Given the description of an element on the screen output the (x, y) to click on. 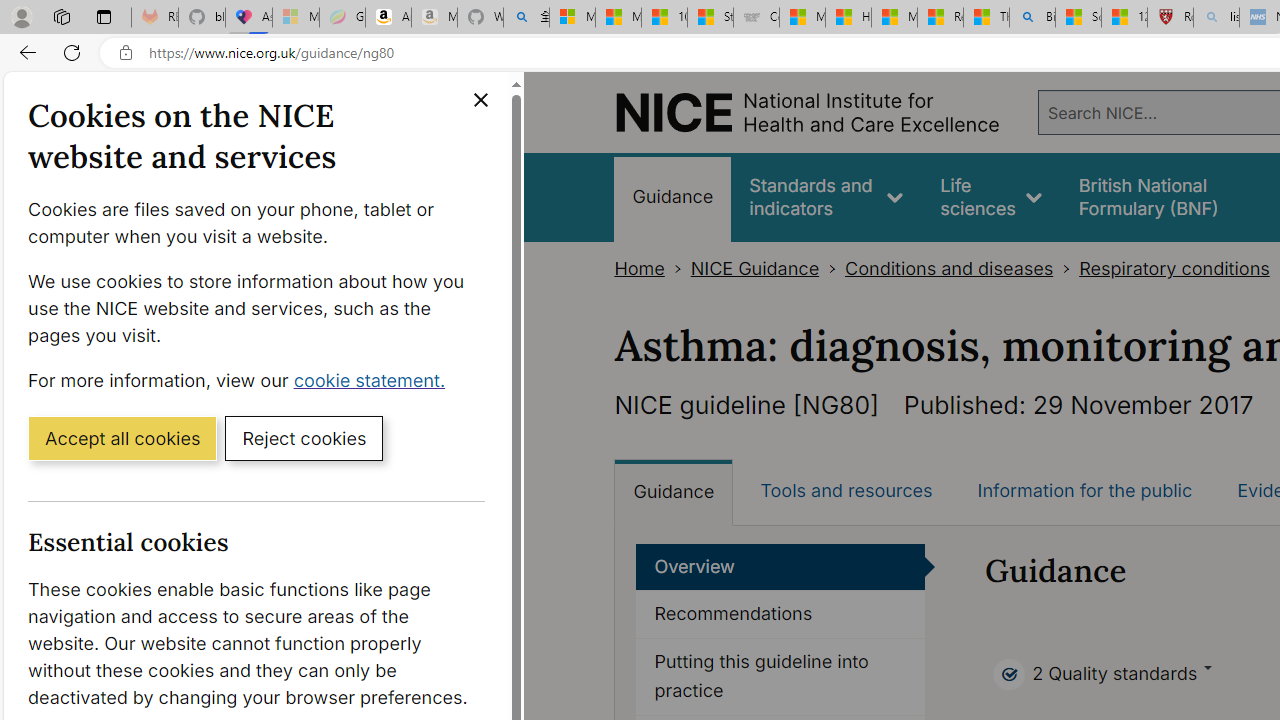
12 Popular Science Lies that Must be Corrected (1124, 17)
Asthma Inhalers: Names and Types (249, 17)
Home> (652, 268)
Accept all cookies (122, 437)
NICE Guidance (754, 268)
Recommendations (780, 615)
Guidance (673, 491)
